Given the description of an element on the screen output the (x, y) to click on. 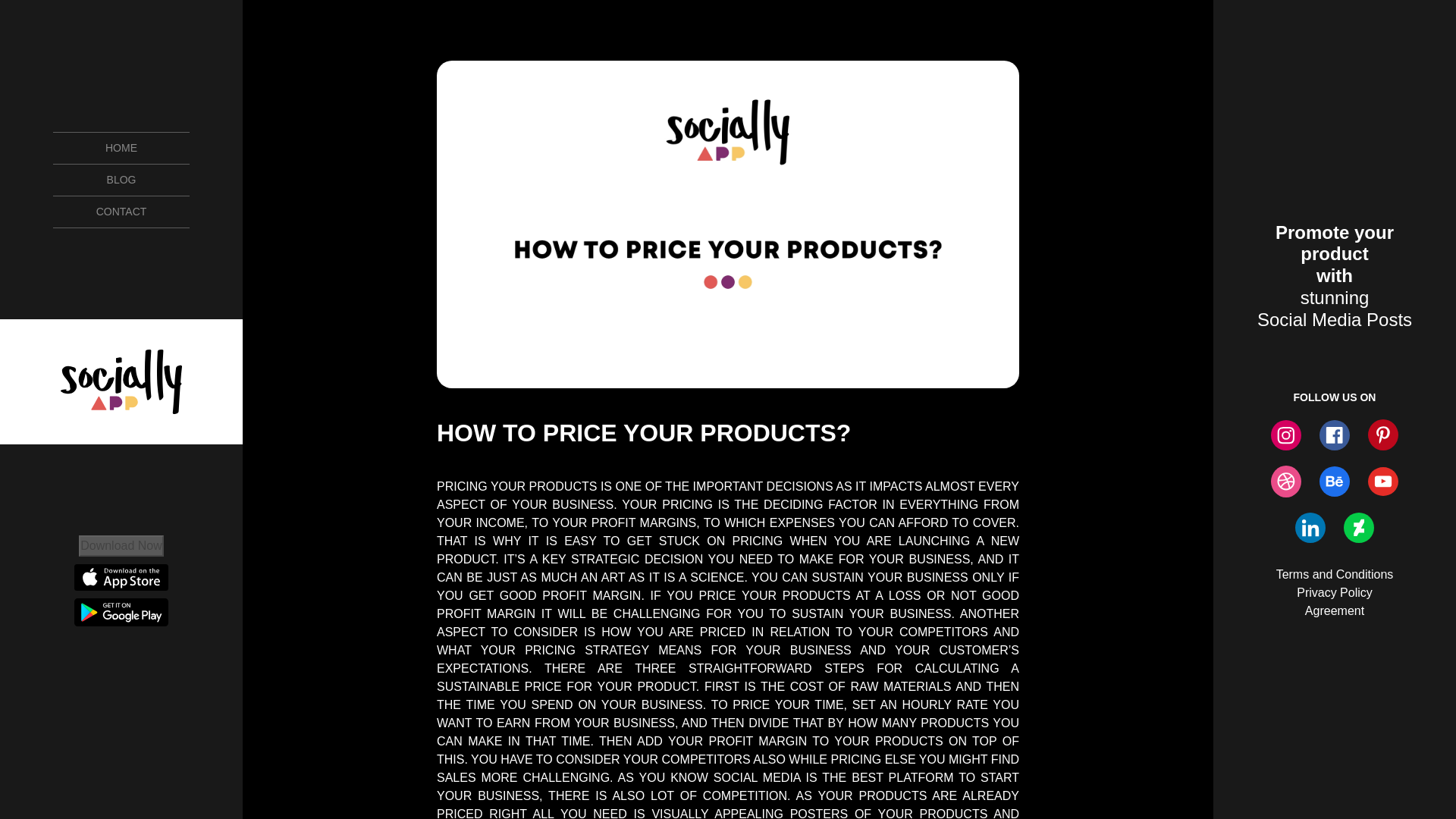
Download Now (120, 545)
Download Now (120, 545)
BLOG (120, 179)
CONTACT (120, 211)
HOME (120, 147)
